Given the description of an element on the screen output the (x, y) to click on. 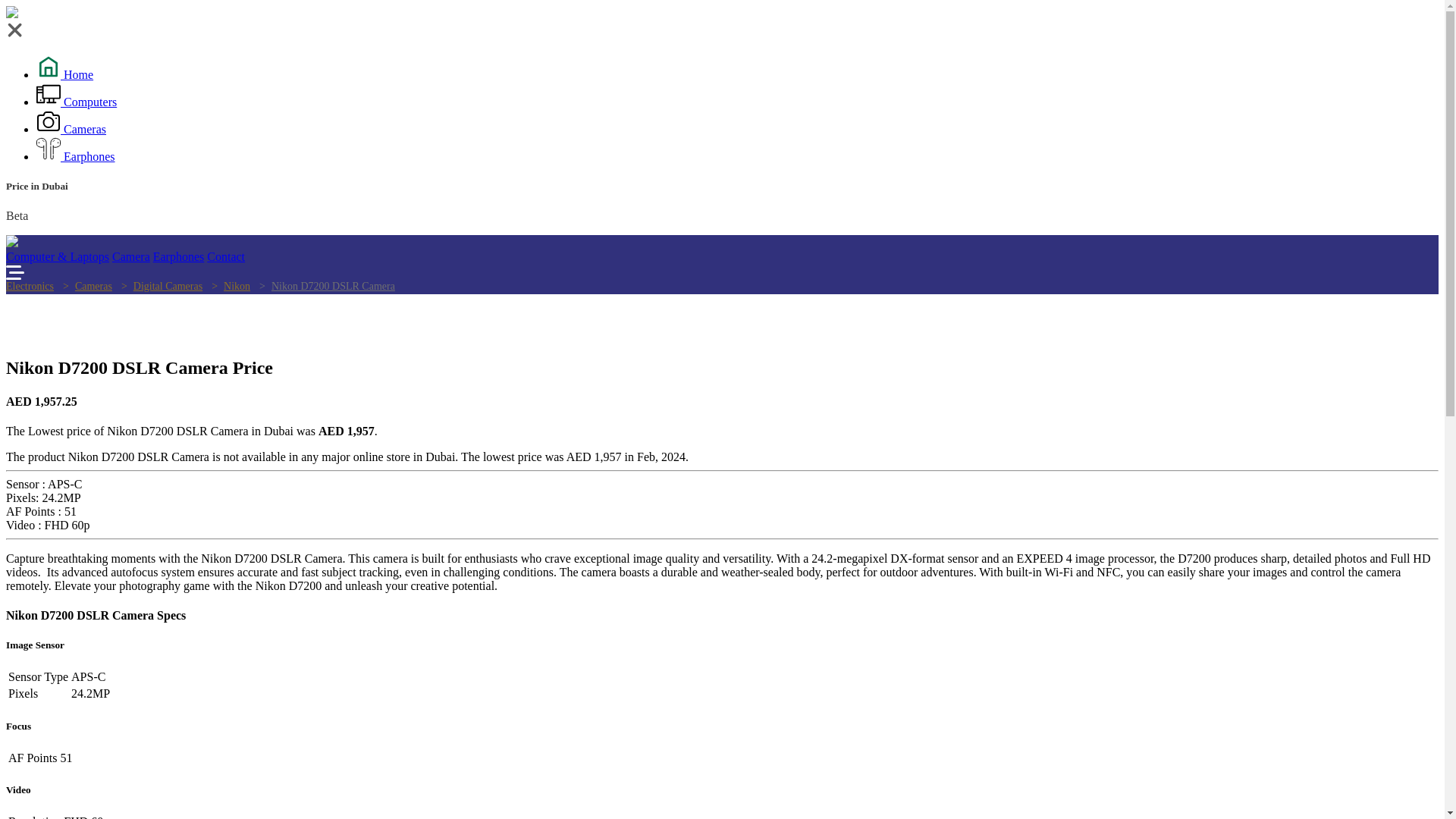
Camera (130, 256)
Cameras (84, 285)
Home (64, 74)
Nikon (227, 285)
Nikon D7200 DSLR Camera (323, 285)
Cameras (71, 128)
Electronics (29, 285)
Earphones (75, 155)
Contact (225, 256)
Digital Cameras (158, 285)
Computers (76, 101)
Earphones (178, 256)
